Given the description of an element on the screen output the (x, y) to click on. 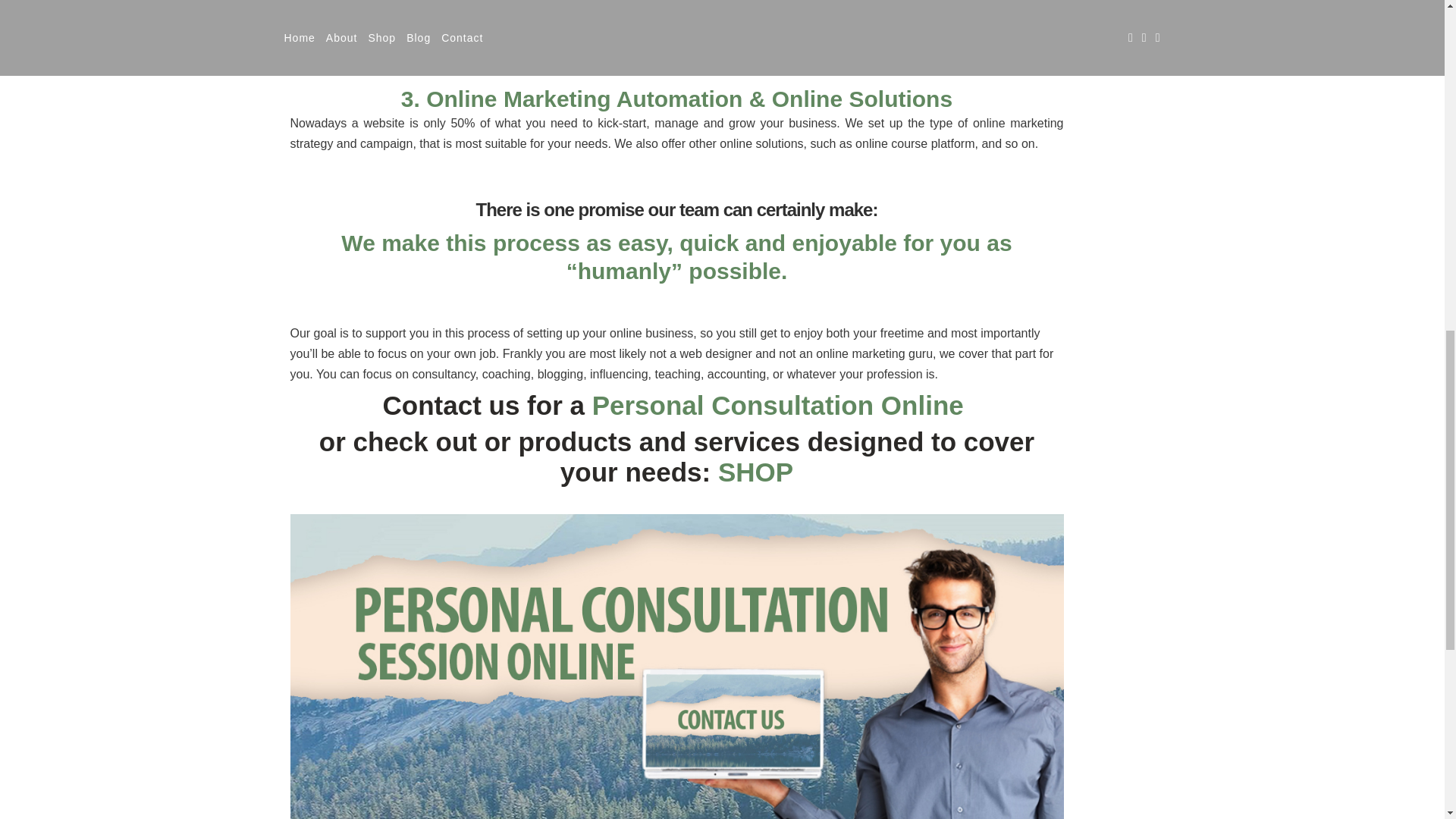
Personal Consultation Online  (781, 405)
SHOP (755, 471)
